Given the description of an element on the screen output the (x, y) to click on. 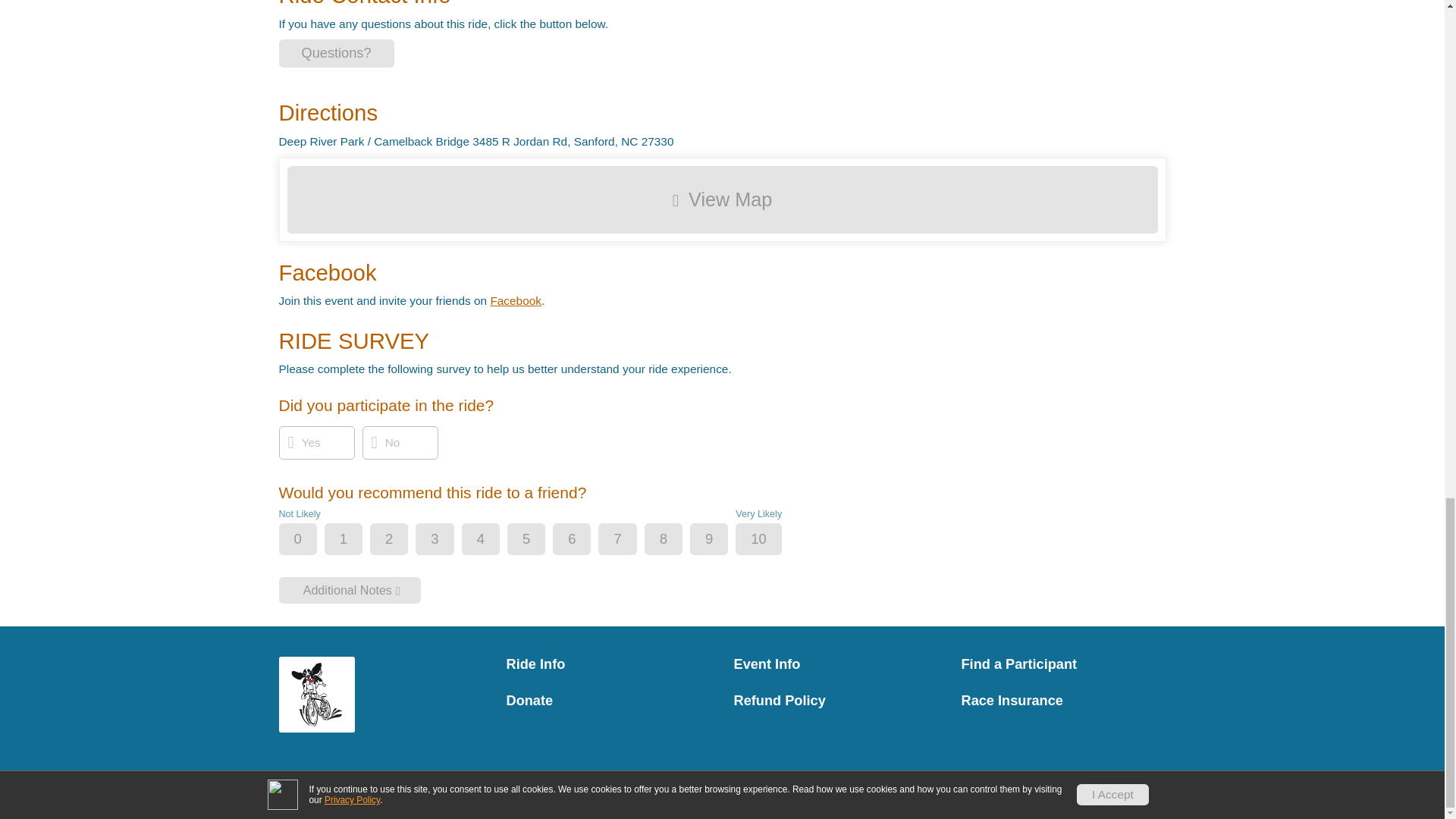
Additional Notes (349, 590)
6 (584, 540)
3 (447, 540)
5 (539, 540)
8 (675, 540)
1 (355, 540)
10 (770, 540)
Questions? (336, 53)
2 (401, 540)
View Map (721, 199)
